Given the description of an element on the screen output the (x, y) to click on. 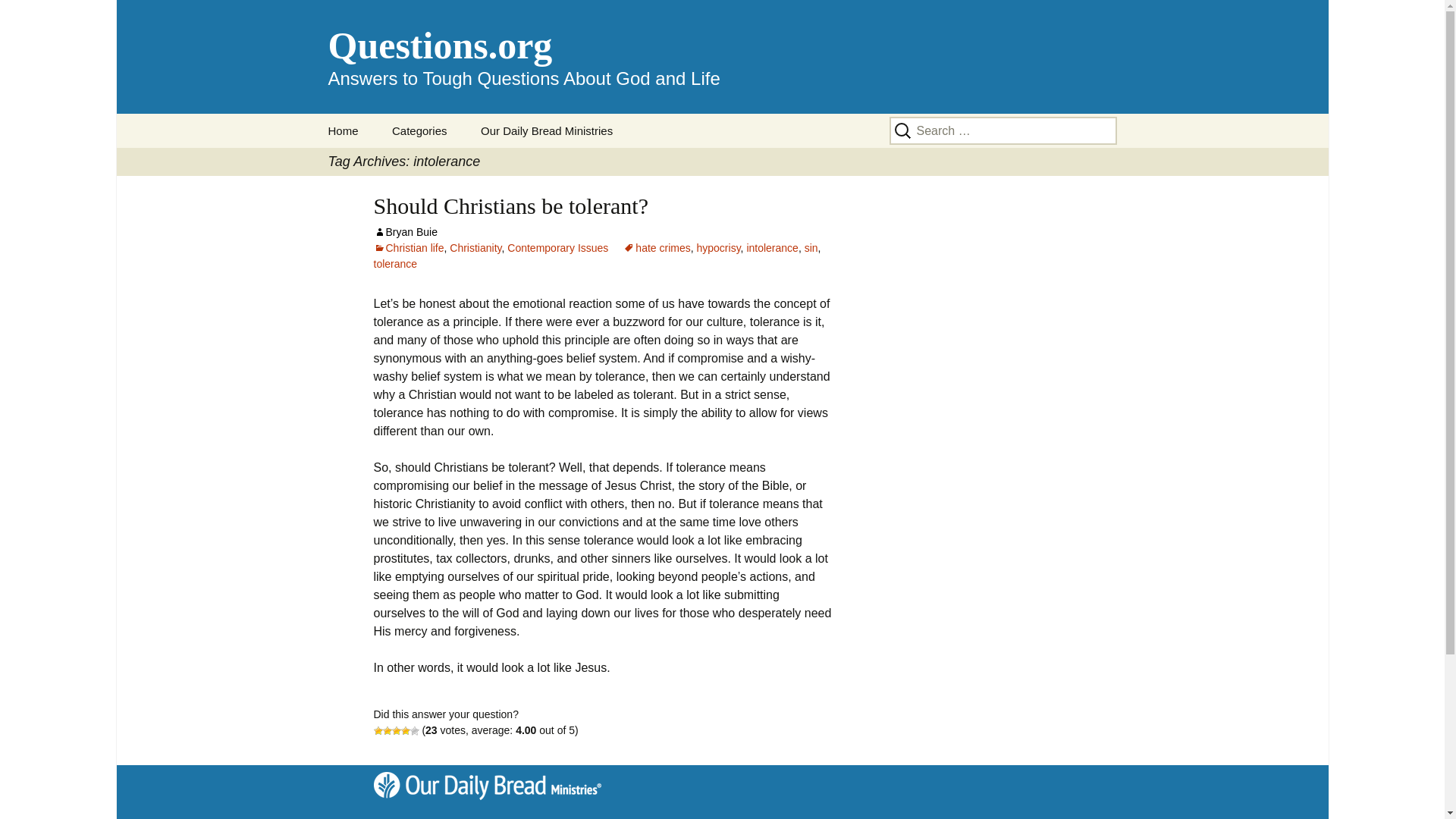
Categories (420, 130)
1 Star (376, 730)
Search (722, 56)
hate crimes (37, 15)
sin (656, 247)
Should Christians be tolerant? (811, 247)
Basics Of Faith (509, 205)
Bryan Buie (452, 164)
Skip to content (404, 232)
hypocrisy (414, 730)
3 Stars (717, 247)
Home (395, 730)
